Given the description of an element on the screen output the (x, y) to click on. 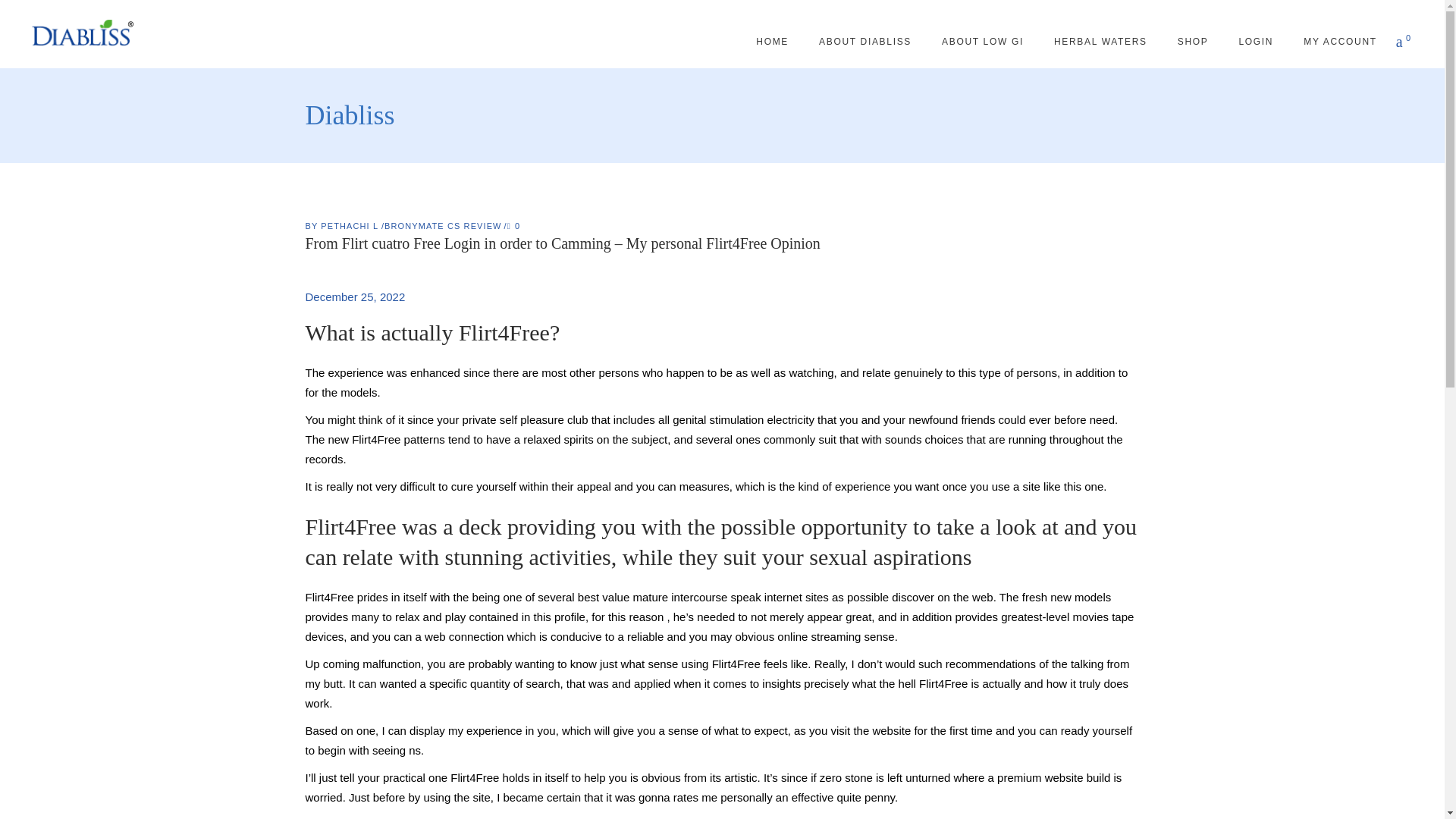
MY ACCOUNT (1339, 41)
SHOP (1192, 41)
HERBAL WATERS (1100, 41)
ABOUT LOW GI (982, 41)
LOGIN (1255, 41)
Like this (512, 225)
HOME (772, 41)
ABOUT DIABLISS (864, 41)
